Given the description of an element on the screen output the (x, y) to click on. 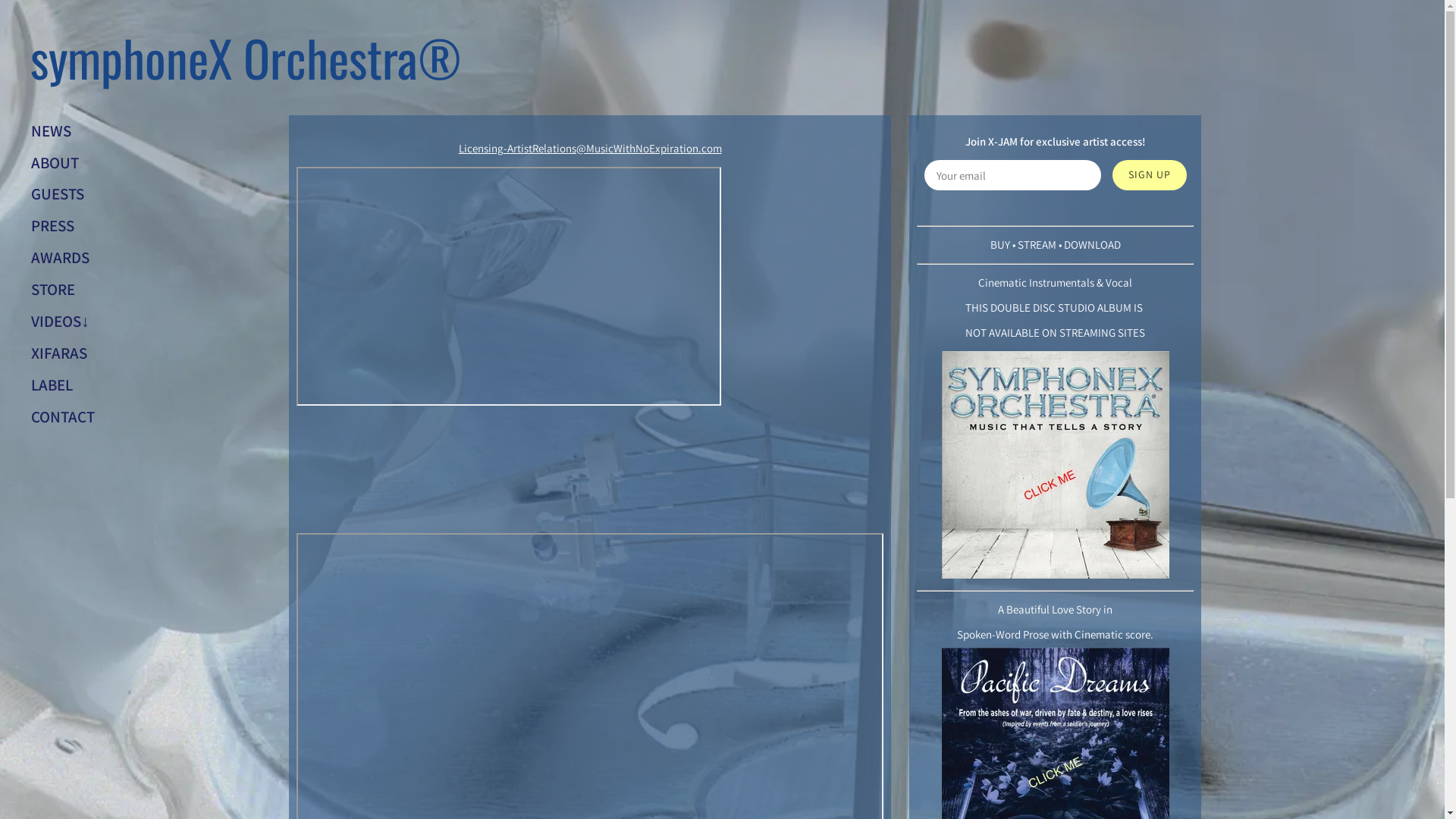
GUESTS Element type: text (57, 193)
CONTACT Element type: text (62, 416)
ABOUT Element type: text (54, 162)
LABEL Element type: text (51, 384)
NEWS Element type: text (50, 130)
STORE Element type: text (52, 289)
AWARDS Element type: text (59, 257)
Licensing-ArtistRelations@MusicWithNoExpiration.com Element type: text (589, 148)
XIFARAS Element type: text (58, 352)
SIGN UP Element type: text (1149, 175)
PRESS Element type: text (52, 225)
